Given the description of an element on the screen output the (x, y) to click on. 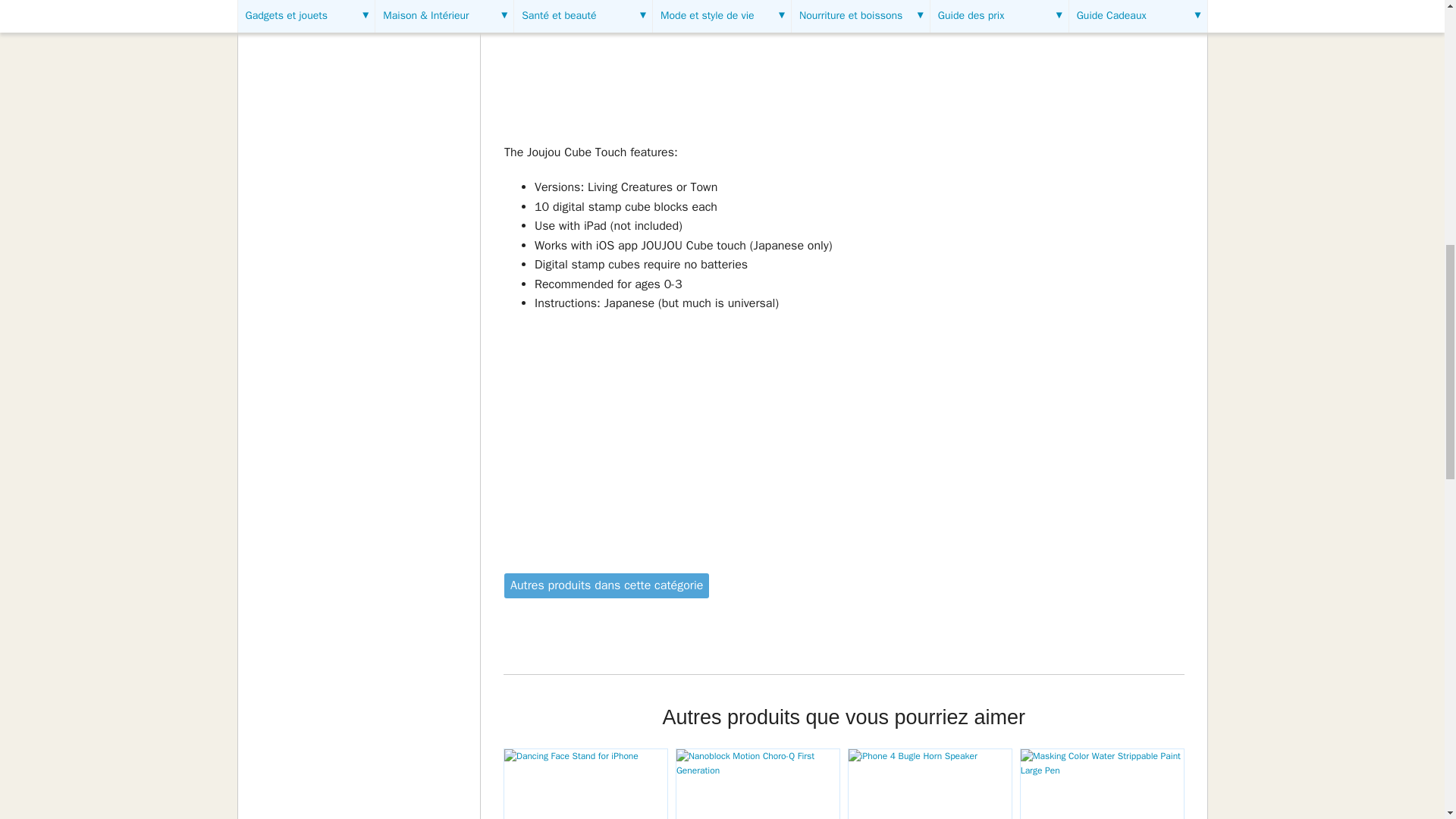
 Dancing Face Stand for iPhone  (584, 784)
 iPhone 4 Bugle Horn Speaker  (929, 784)
 Masking Color Water Strippable Paint Large Pen  (1101, 784)
 Nanoblock Motion Choro-Q First Generation  (758, 784)
